Given the description of an element on the screen output the (x, y) to click on. 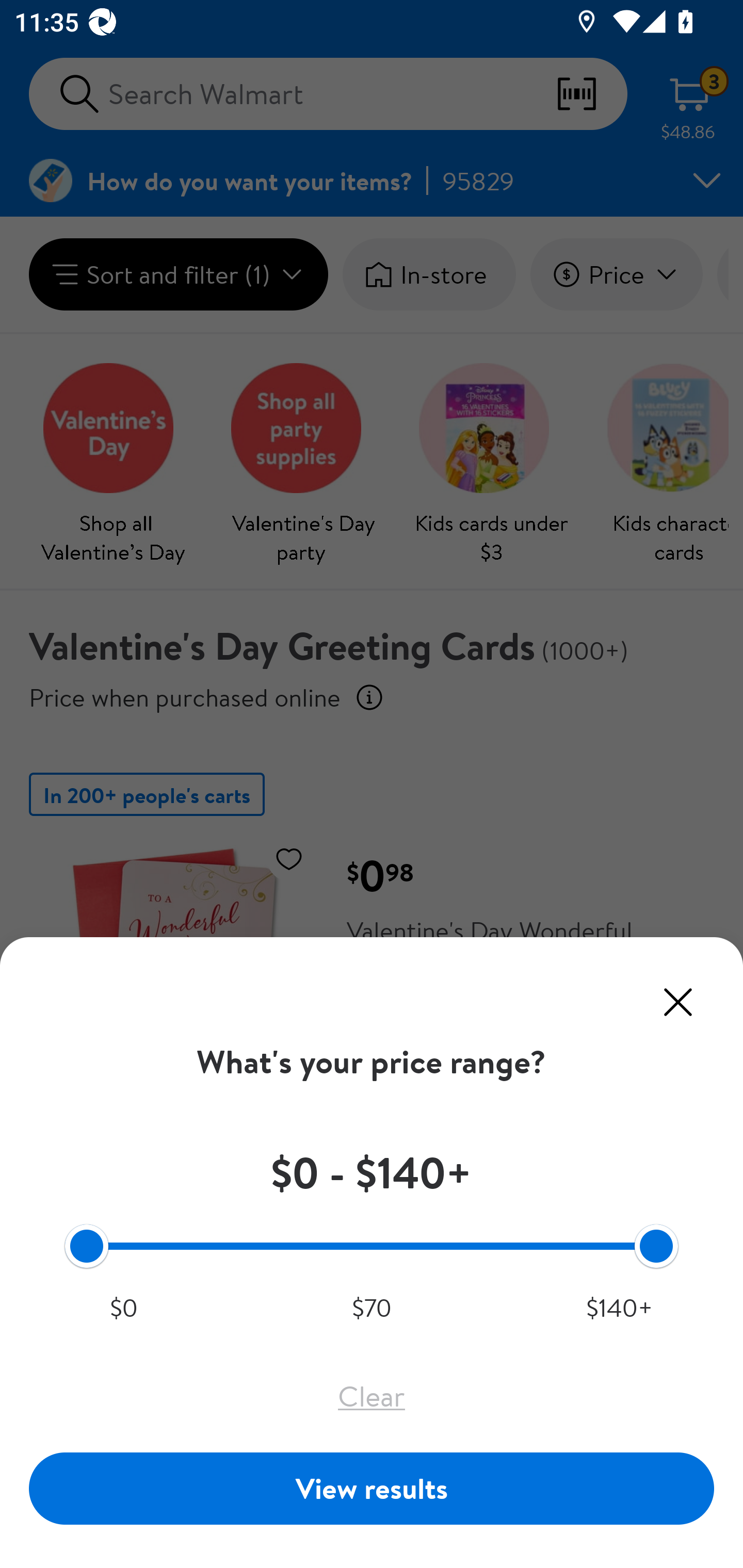
Close (677, 1001)
Range start,0 to 142 Range end,0 to 142 (371, 1245)
Clear (371, 1395)
View results (371, 1487)
